Given the description of an element on the screen output the (x, y) to click on. 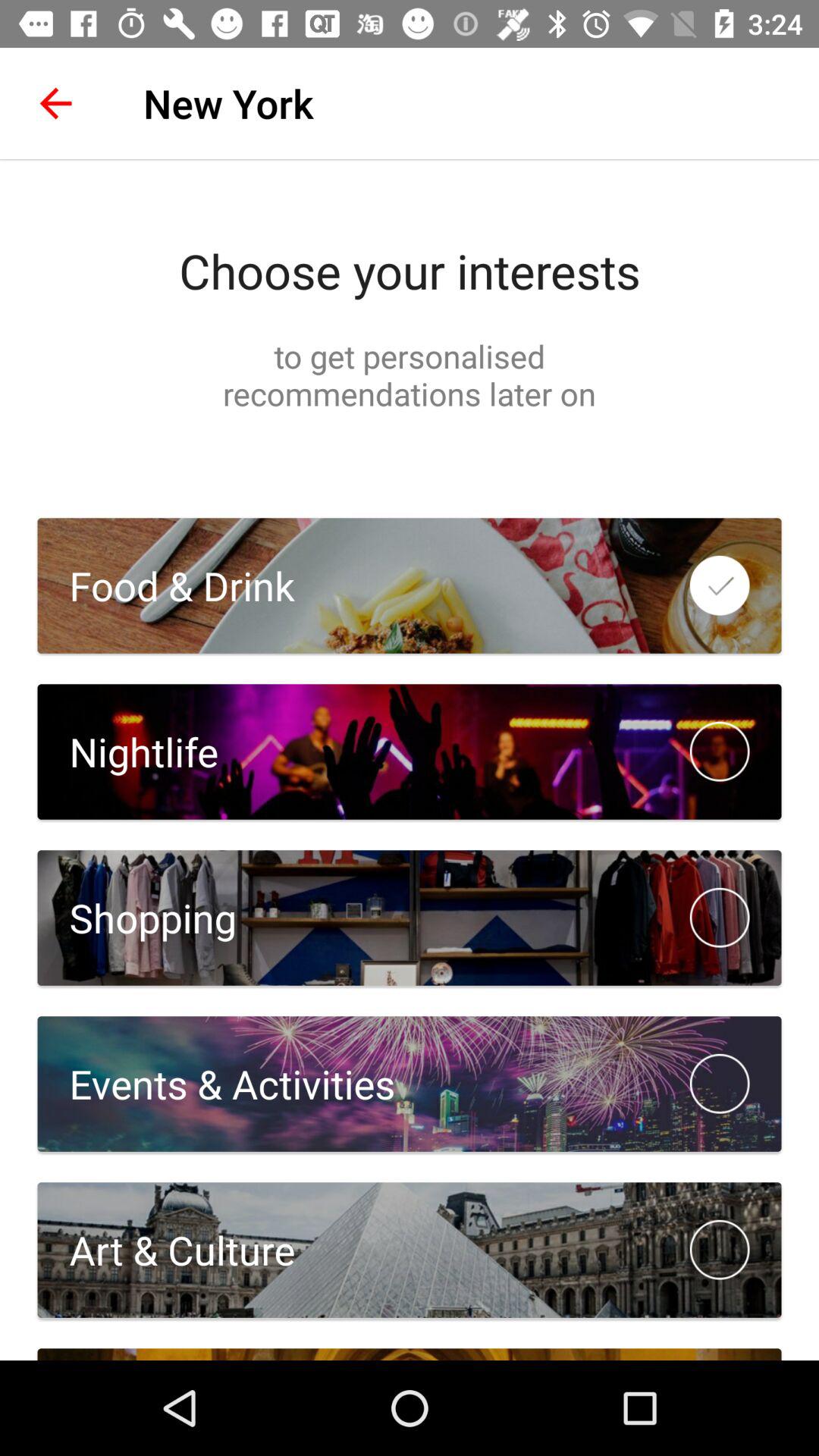
swipe to the art & culture (166, 1249)
